Given the description of an element on the screen output the (x, y) to click on. 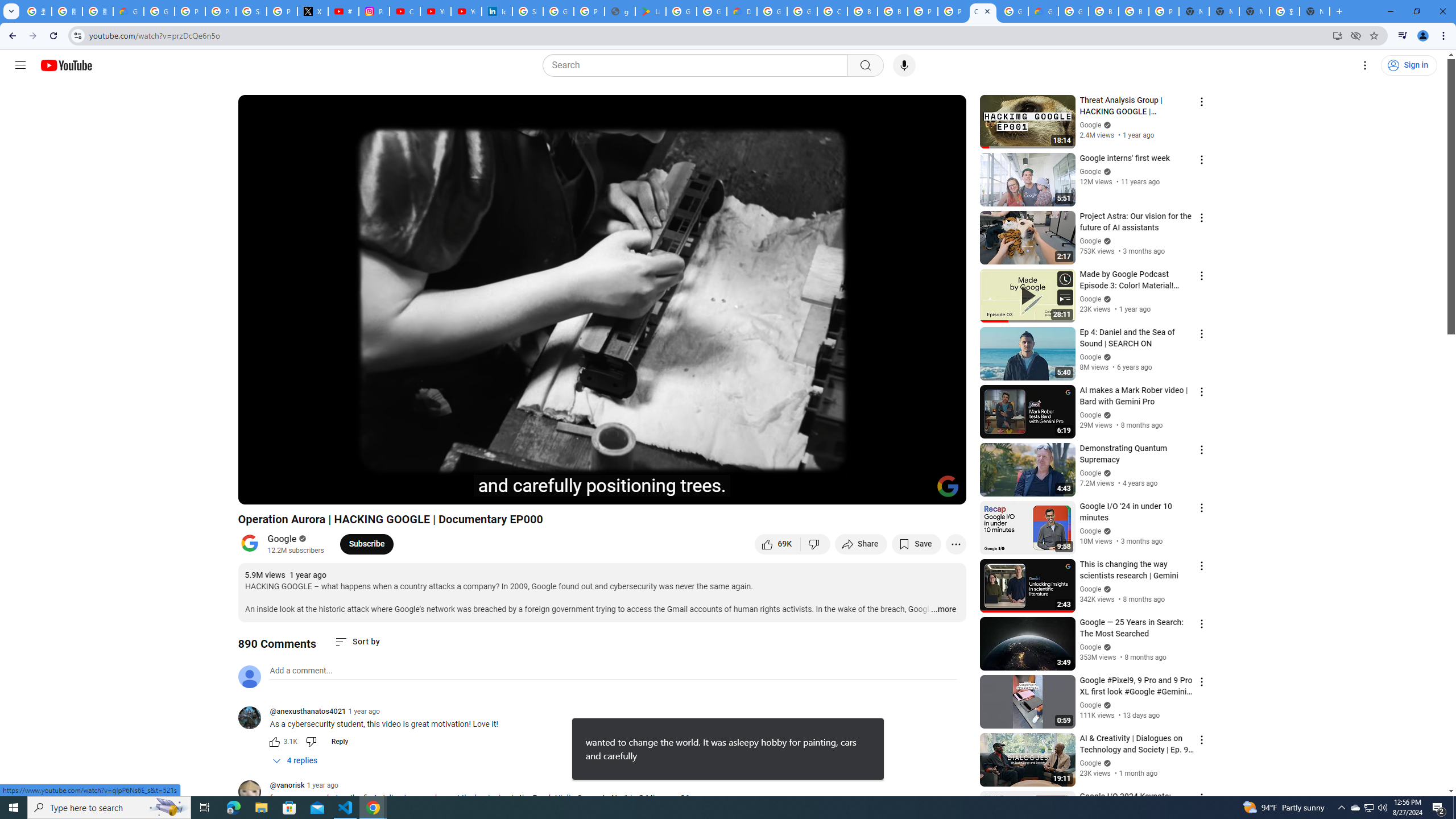
Google Cloud Platform (1072, 11)
Autoplay is on (808, 490)
AutomationID: simplebox-placeholder (301, 670)
Theater mode (t) (917, 490)
Save to playlist (915, 543)
